Given the description of an element on the screen output the (x, y) to click on. 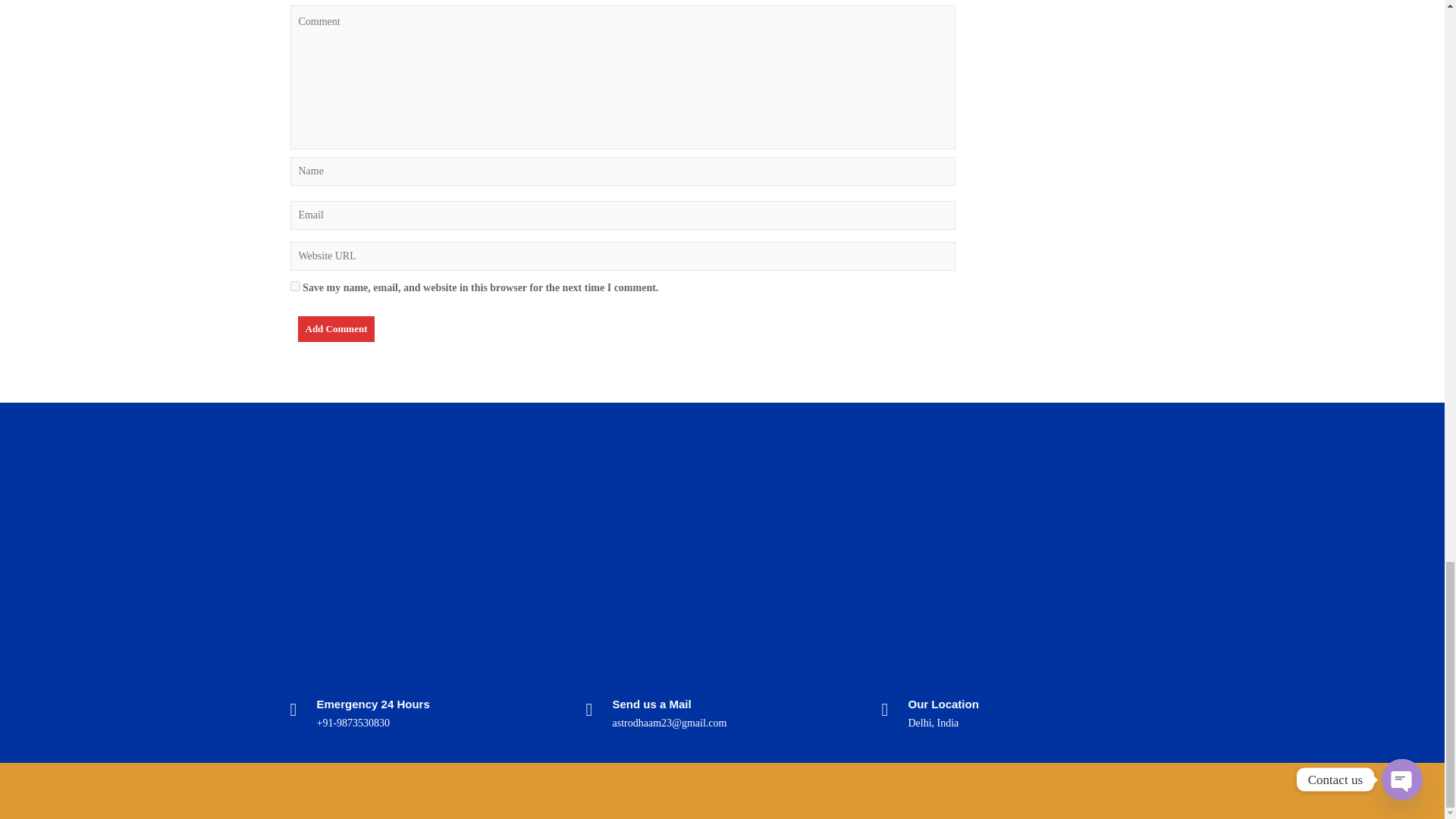
yes (294, 286)
Add Comment (335, 329)
Add Comment (335, 329)
